Given the description of an element on the screen output the (x, y) to click on. 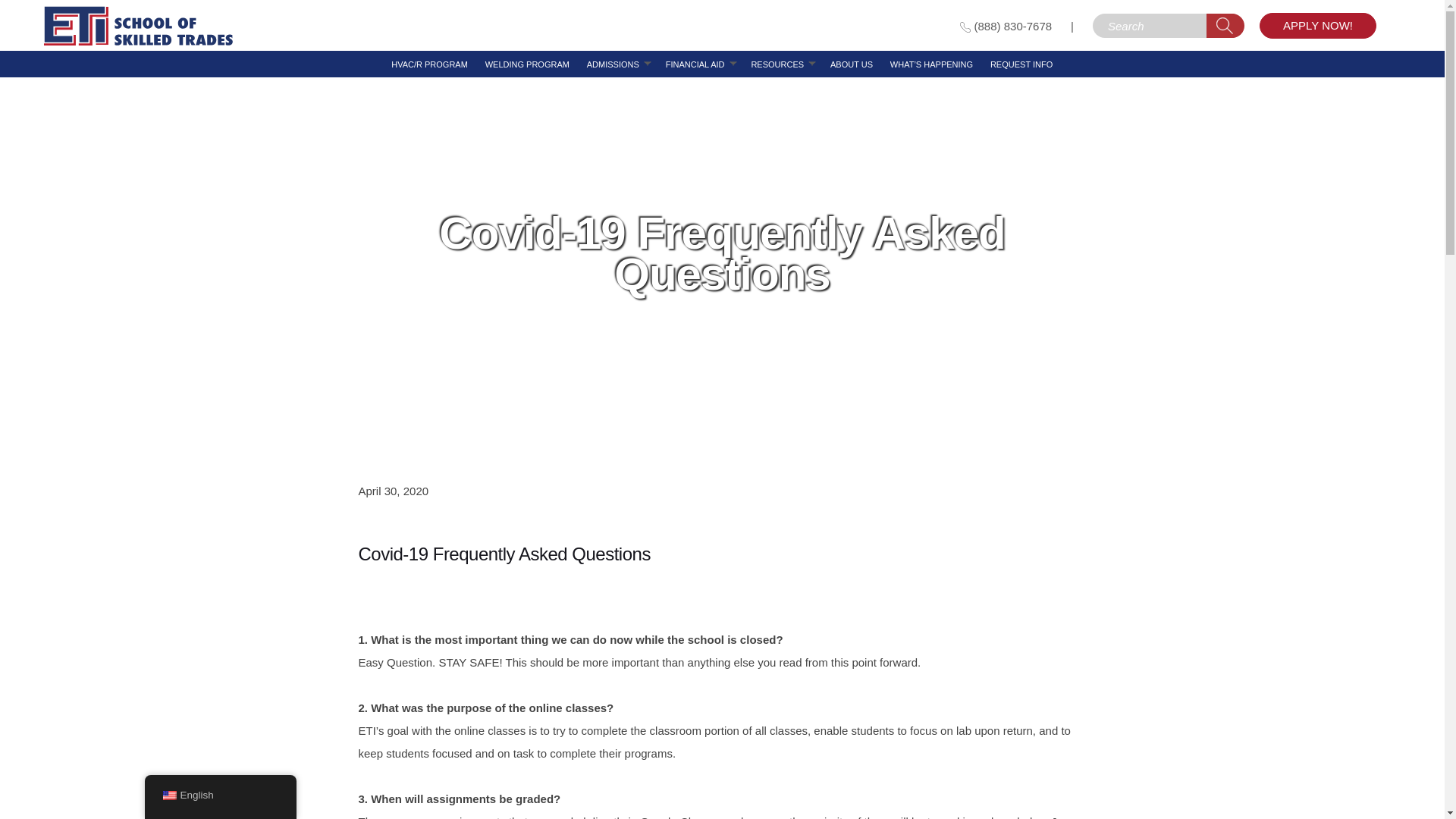
English (168, 795)
WELDING PROGRAM (526, 64)
ADMISSIONS (612, 64)
Search (1225, 25)
Search (1225, 25)
APPLY NOW! (1317, 25)
REQUEST INFO (1021, 64)
ABOUT US (850, 64)
FINANCIAL AID (695, 64)
RESOURCES (777, 64)
